Given the description of an element on the screen output the (x, y) to click on. 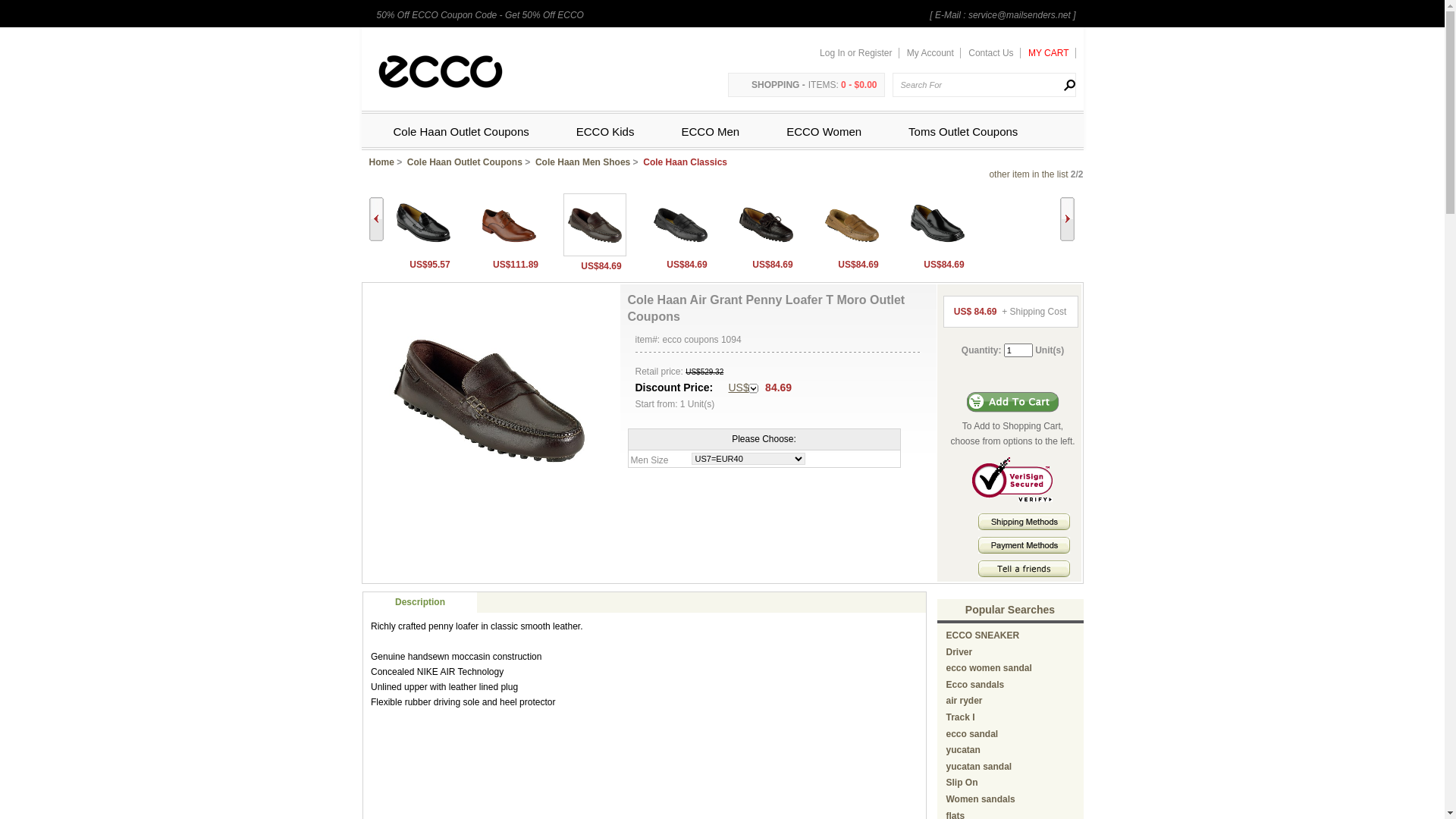
Home Element type: text (380, 161)
 Shipping Methods  Element type: hover (1024, 521)
air ryder Element type: text (964, 700)
yucatan sandal Element type: text (979, 766)
Cole Haan Santa Barbara Black Polished Outlet Coupons Element type: hover (937, 251)
Cole Haan Santa Barbara Black Polished Outlet Coupons Element type: hover (937, 223)
Cole Haan Air Grant Penny Loafer T Moro Outlet Coupons Element type: hover (593, 224)
Cole Haan Air Grant Penny Loafer Tan Grain Outlet Coupons Element type: hover (850, 223)
Back Element type: hover (375, 219)
Cole Haan Men Shoes Element type: text (582, 161)
Cole Haan Outlet Coupons Element type: text (464, 161)
Payment methods Element type: hover (1024, 550)
ECCO Men Element type: text (710, 131)
Track I Element type: text (960, 717)
Cole Haan Pinch Air Penny Black Outlet Coupons Element type: hover (423, 251)
Cole Haan Outlet Coupons Element type: text (460, 131)
Women sandals Element type: text (980, 798)
My Account Element type: text (930, 52)
Contact Us Element type: text (991, 52)
yucatan Element type: text (963, 749)
 ecco outlet coupons  Element type: hover (440, 72)
Next Element type: hover (1067, 219)
Add to Cart Element type: hover (1012, 402)
GO Element type: text (1062, 84)
Log In or Register Element type: text (858, 52)
Cole Haan Air Grant Penny Loafer Black Grain Outlet Coupons Element type: hover (679, 223)
ECCO Women Element type: text (823, 131)
Cole Haan Pinch Air Penny Black Outlet Coupons Element type: hover (423, 223)
ecco sandal Element type: text (972, 733)
Cole Haan Air Grant Penny Loafer Black Grain Outlet Coupons Element type: hover (679, 251)
 Cole Haan Air Grant Penny Loafer T Moro Outlet Coupons  Element type: hover (489, 398)
Ecco sandals Element type: text (975, 684)
Slip On Element type: text (962, 782)
Cole Haan Air Grant Penny Loafer Tan Grain Outlet Coupons Element type: hover (850, 251)
 Payment Methods  Element type: hover (1024, 544)
other item in the list Element type: text (1027, 174)
Shipping Methods Element type: hover (1024, 526)
Toms Outlet Coupons Element type: text (962, 131)
Cole Haan Classics Element type: text (685, 161)
Cole Haan Air Grant Penny Loafer T Moro Outlet Coupons Element type: hover (593, 252)
Driver Element type: text (959, 651)
US$ Element type: text (742, 387)
SHOPPING - ITEMS: 0 - $0.00 Element type: text (806, 84)
ECCO Kids Element type: text (605, 131)
 Tell A Friends  Element type: hover (1024, 568)
MY CART Element type: text (1049, 52)
ecco women sandal Element type: text (989, 667)
Popular Searches Element type: text (1009, 609)
ECCO SNEAKER Element type: text (982, 635)
